Given the description of an element on the screen output the (x, y) to click on. 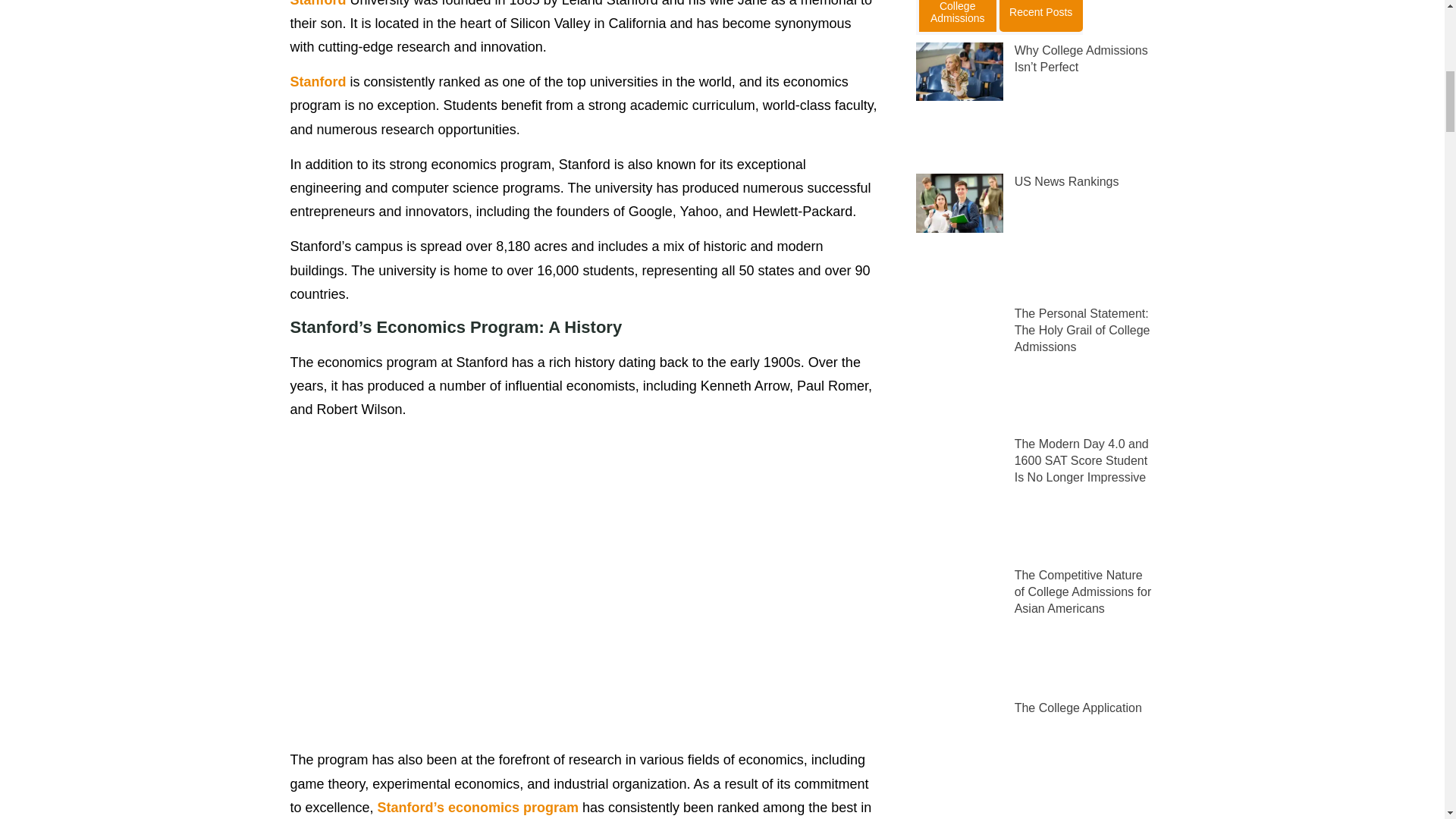
Stanford (317, 81)
Stanford (317, 3)
